Given the description of an element on the screen output the (x, y) to click on. 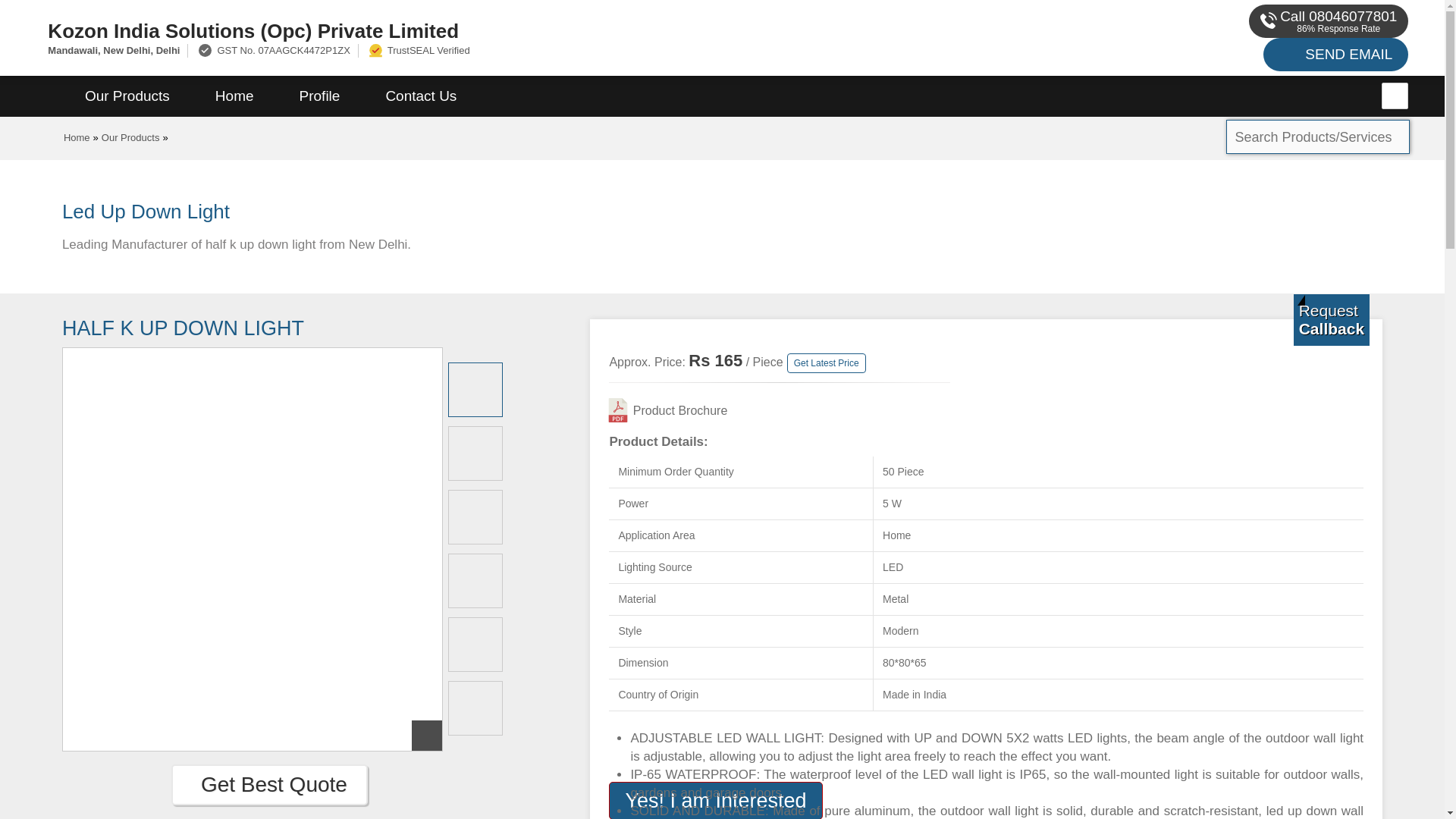
Get a Call from us (1332, 319)
Our Products (127, 96)
